Given the description of an element on the screen output the (x, y) to click on. 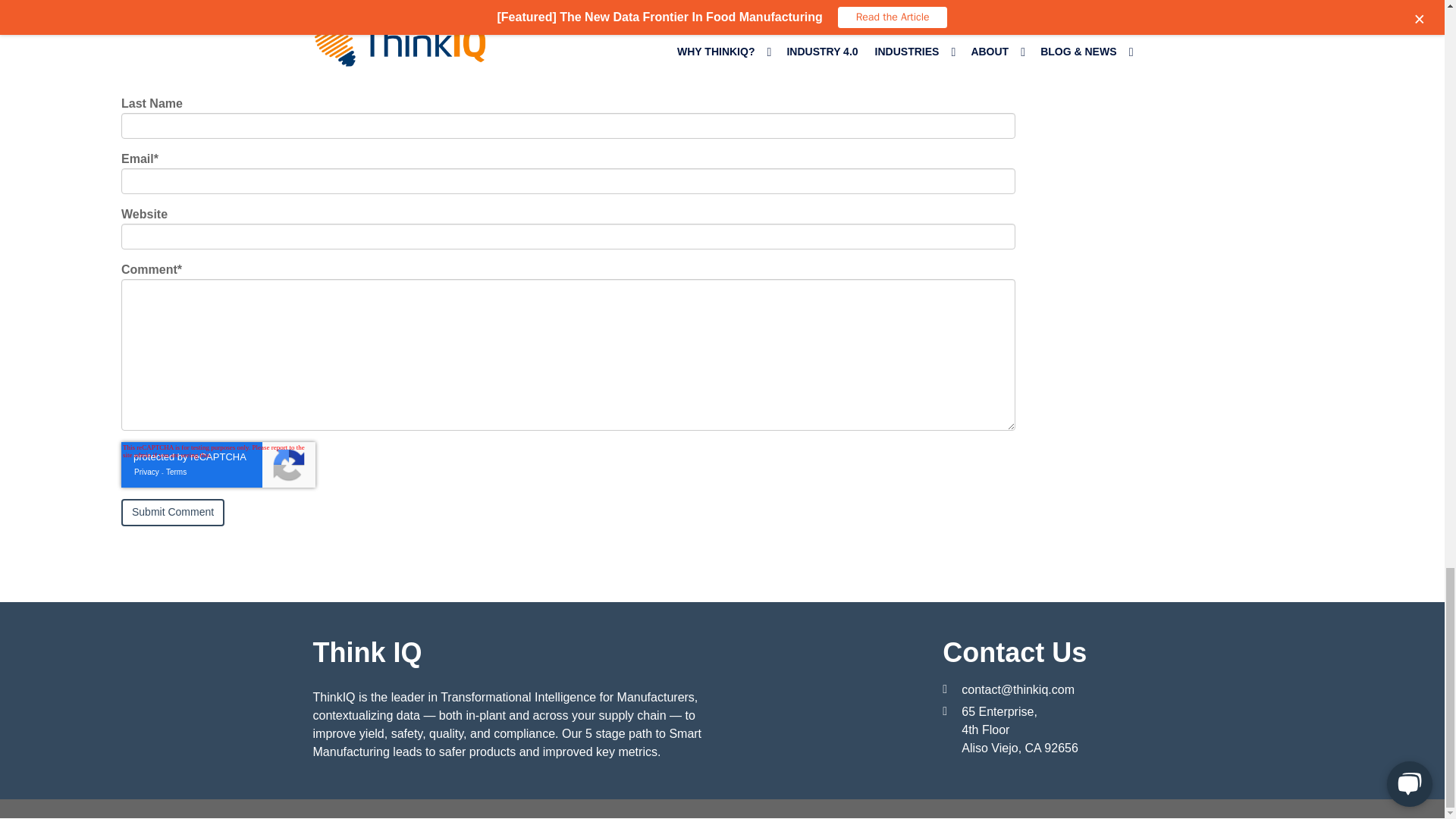
Submit Comment (172, 512)
Submit Comment (172, 512)
reCAPTCHA (217, 464)
